Given the description of an element on the screen output the (x, y) to click on. 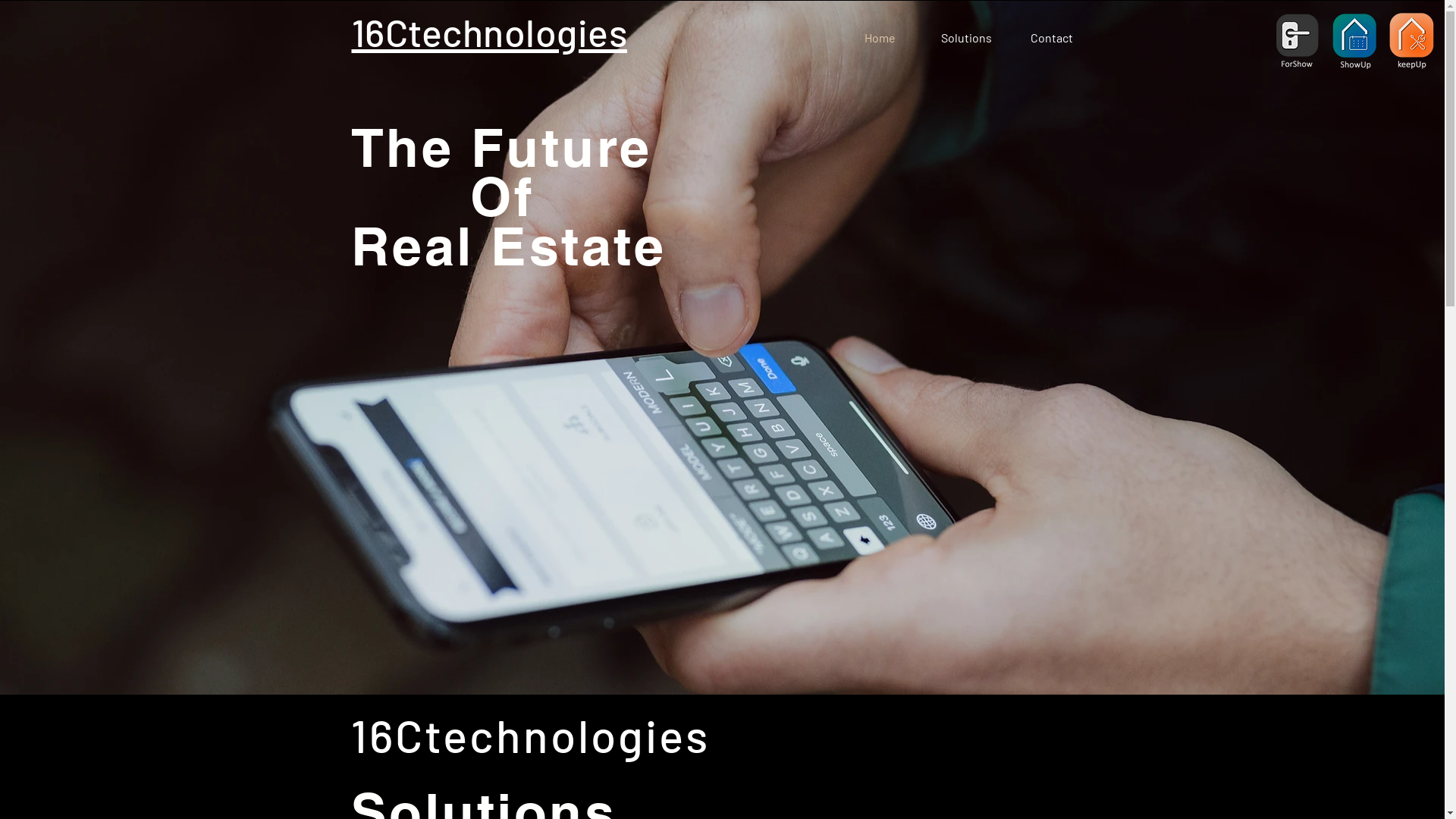
Solutions Element type: text (966, 37)
keepup logo.png Element type: hover (1412, 38)
show up.png Element type: hover (1355, 40)
16Ctechnologies Element type: text (489, 31)
Contact Element type: text (1051, 37)
4show png.png Element type: hover (1299, 39)
Home Element type: text (880, 37)
